Given the description of an element on the screen output the (x, y) to click on. 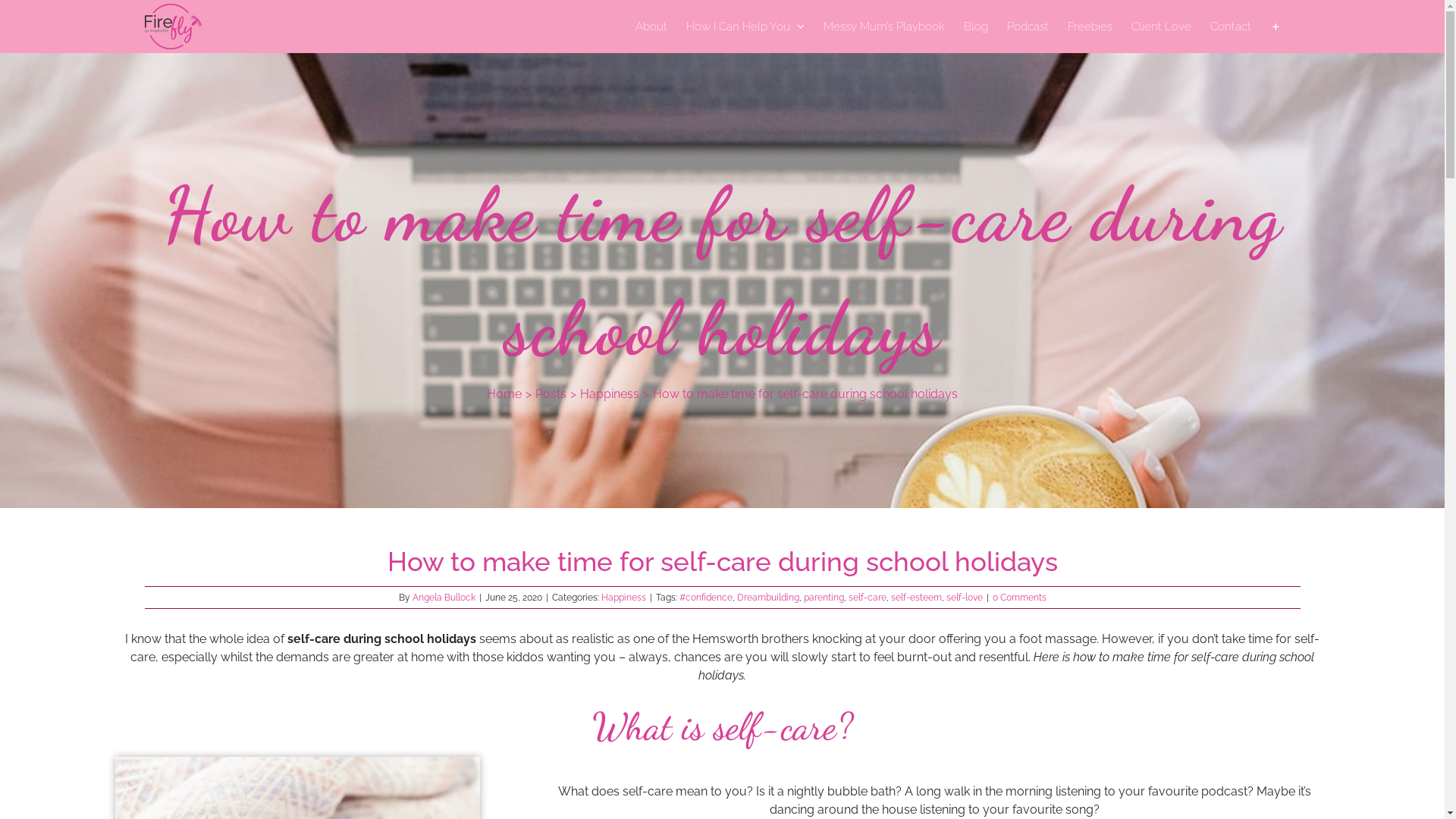
self-love Element type: text (964, 597)
How I Can Help You Element type: text (744, 26)
Posts Element type: text (550, 393)
Angela Bullock Element type: text (443, 597)
Freebies Element type: text (1089, 26)
Toggle Sliding Bar Element type: hover (1274, 26)
Dreambuilding Element type: text (768, 597)
Happiness Element type: text (609, 393)
About Element type: text (651, 26)
Client Love Element type: text (1161, 26)
Home Element type: text (503, 393)
Blog Element type: text (975, 26)
parenting Element type: text (823, 597)
#confidence Element type: text (705, 597)
Podcast Element type: text (1027, 26)
Contact Element type: text (1230, 26)
Happiness Element type: text (622, 597)
self-care Element type: text (866, 597)
0 Comments Element type: text (1018, 597)
self-esteem Element type: text (915, 597)
